Given the description of an element on the screen output the (x, y) to click on. 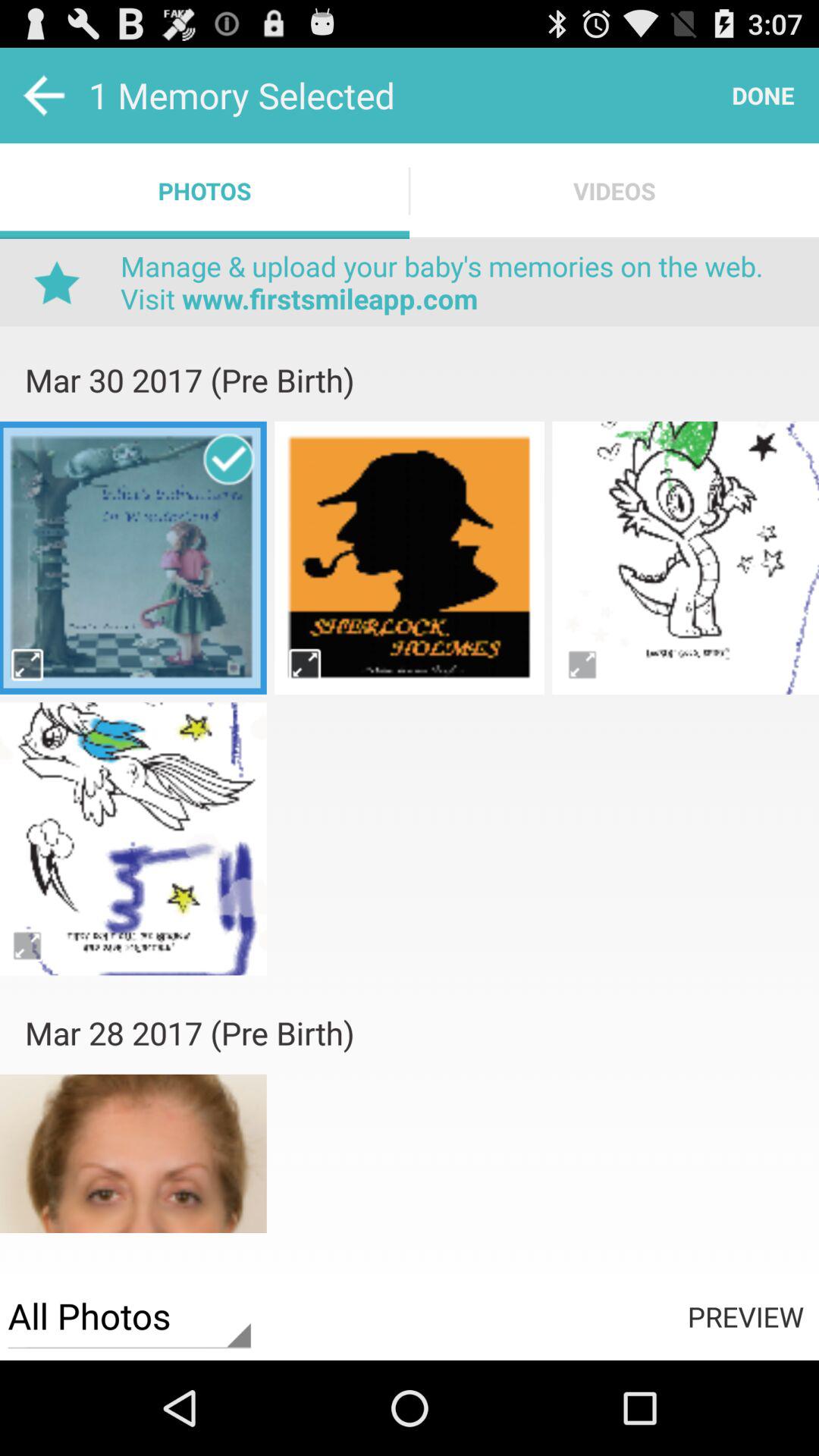
image page (133, 1169)
